Given the description of an element on the screen output the (x, y) to click on. 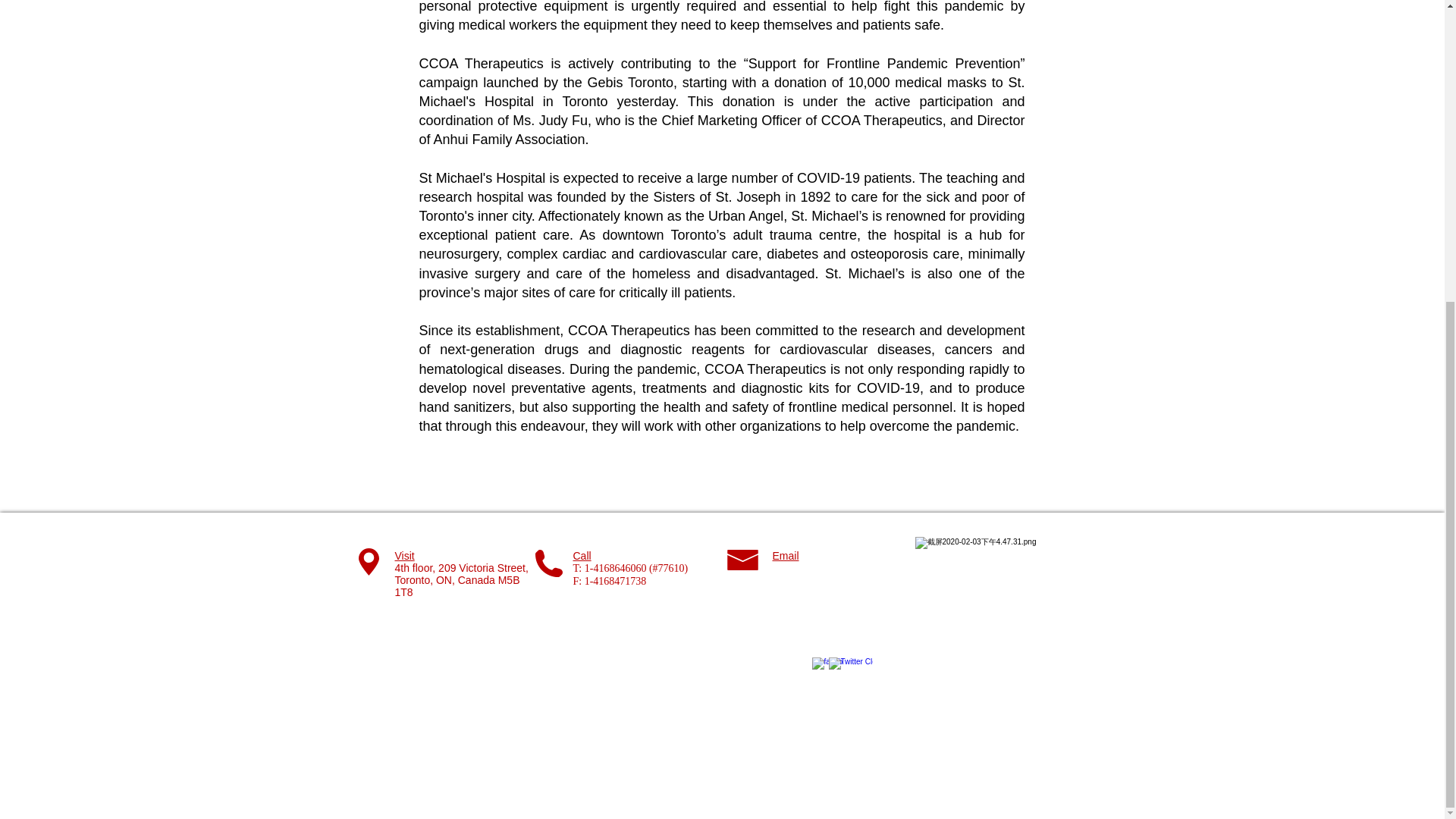
Email (784, 555)
